Given the description of an element on the screen output the (x, y) to click on. 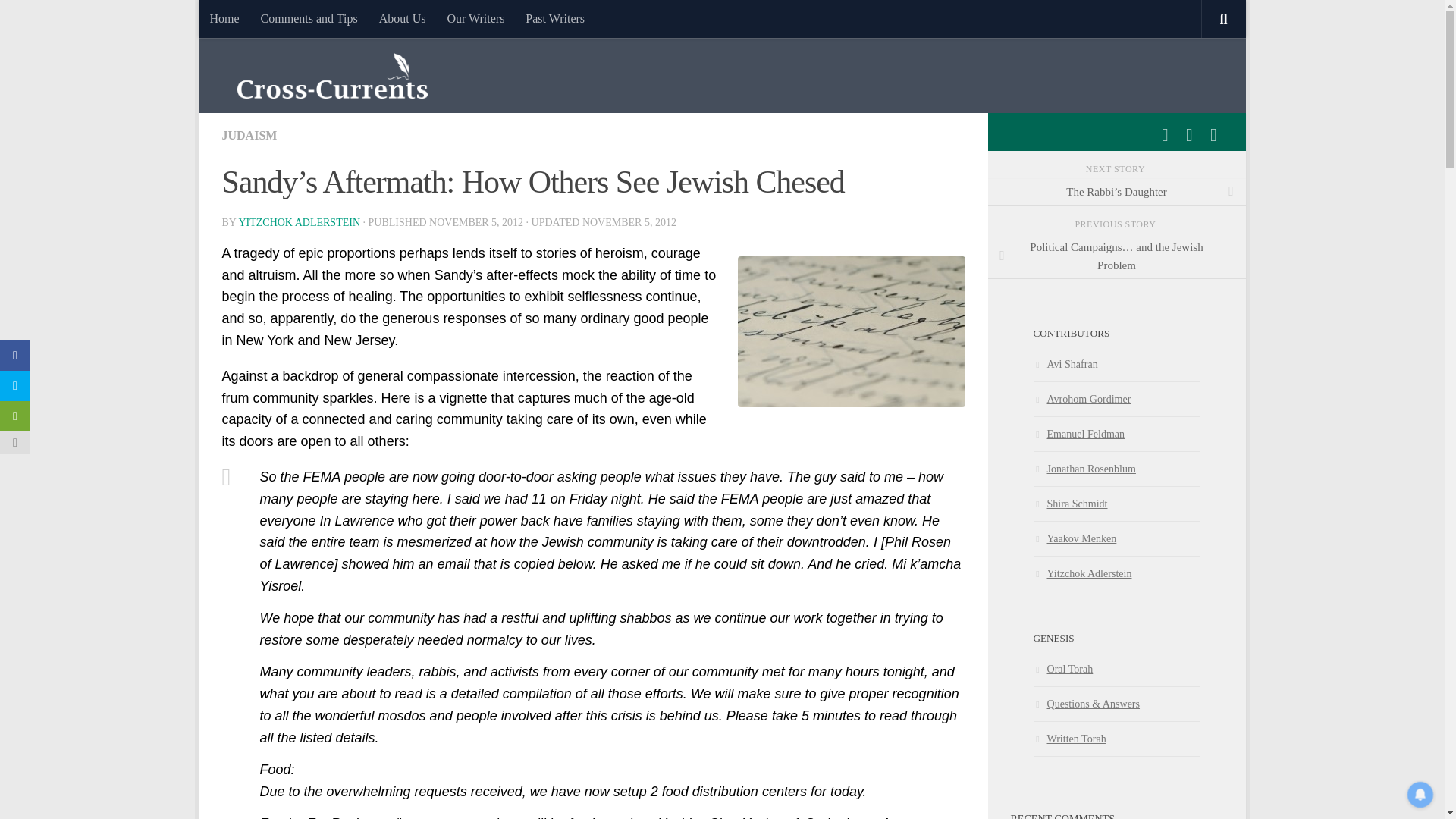
YITZCHOK ADLERSTEIN (298, 222)
JUDAISM (248, 134)
About Us (402, 18)
Skip to content (258, 20)
Jonathan Rosenblum (1083, 468)
Our Writers (475, 18)
Home (223, 18)
Posts by Yitzchok Adlerstein (298, 222)
Comments and Tips (309, 18)
Past Writers (555, 18)
